Given the description of an element on the screen output the (x, y) to click on. 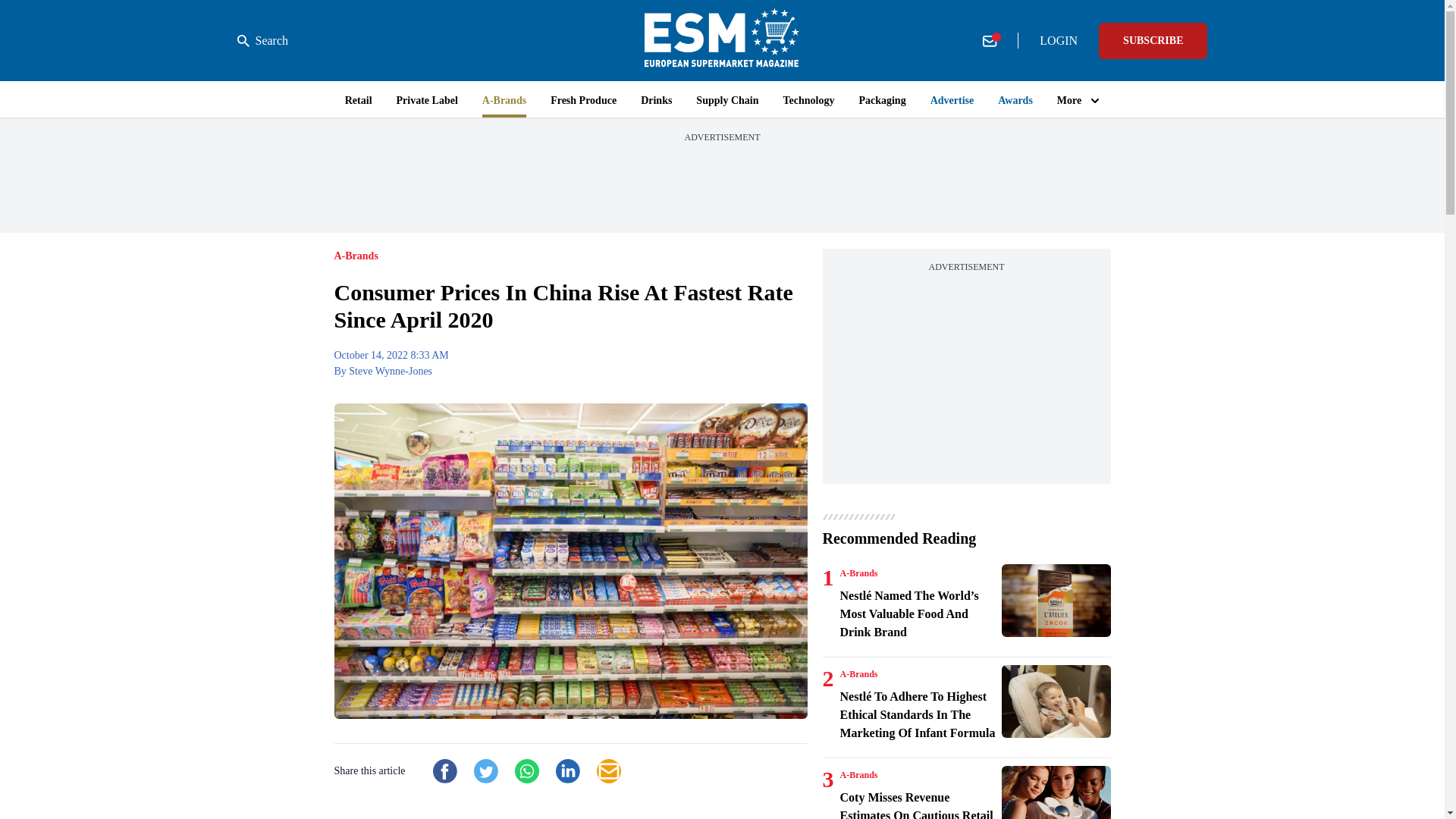
Search (261, 40)
ESM (722, 40)
A-Brands (858, 573)
A-Brands (858, 674)
A-Brands (858, 775)
